Given the description of an element on the screen output the (x, y) to click on. 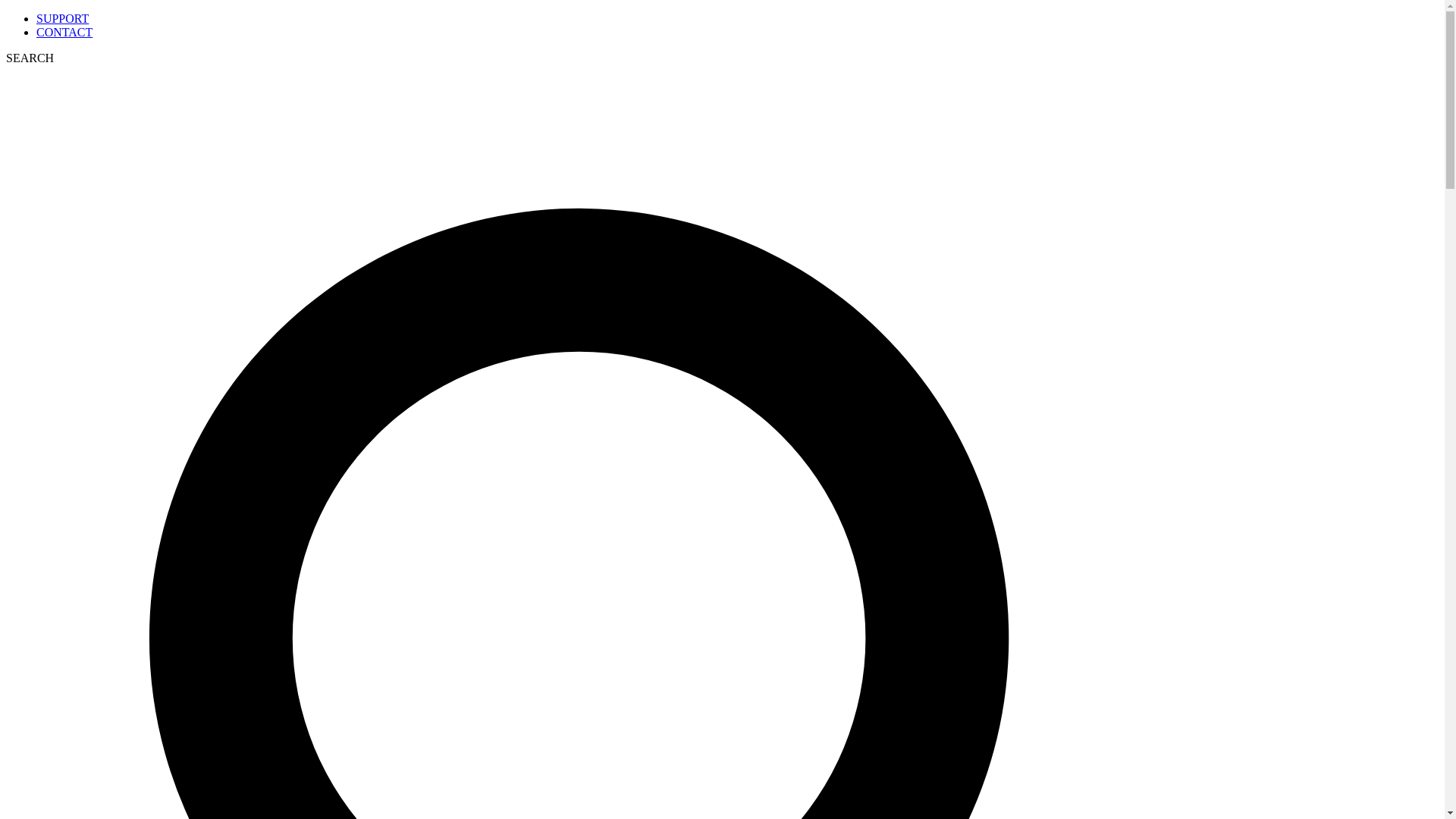
CONTACT Element type: text (64, 31)
SUPPORT Element type: text (62, 18)
